Given the description of an element on the screen output the (x, y) to click on. 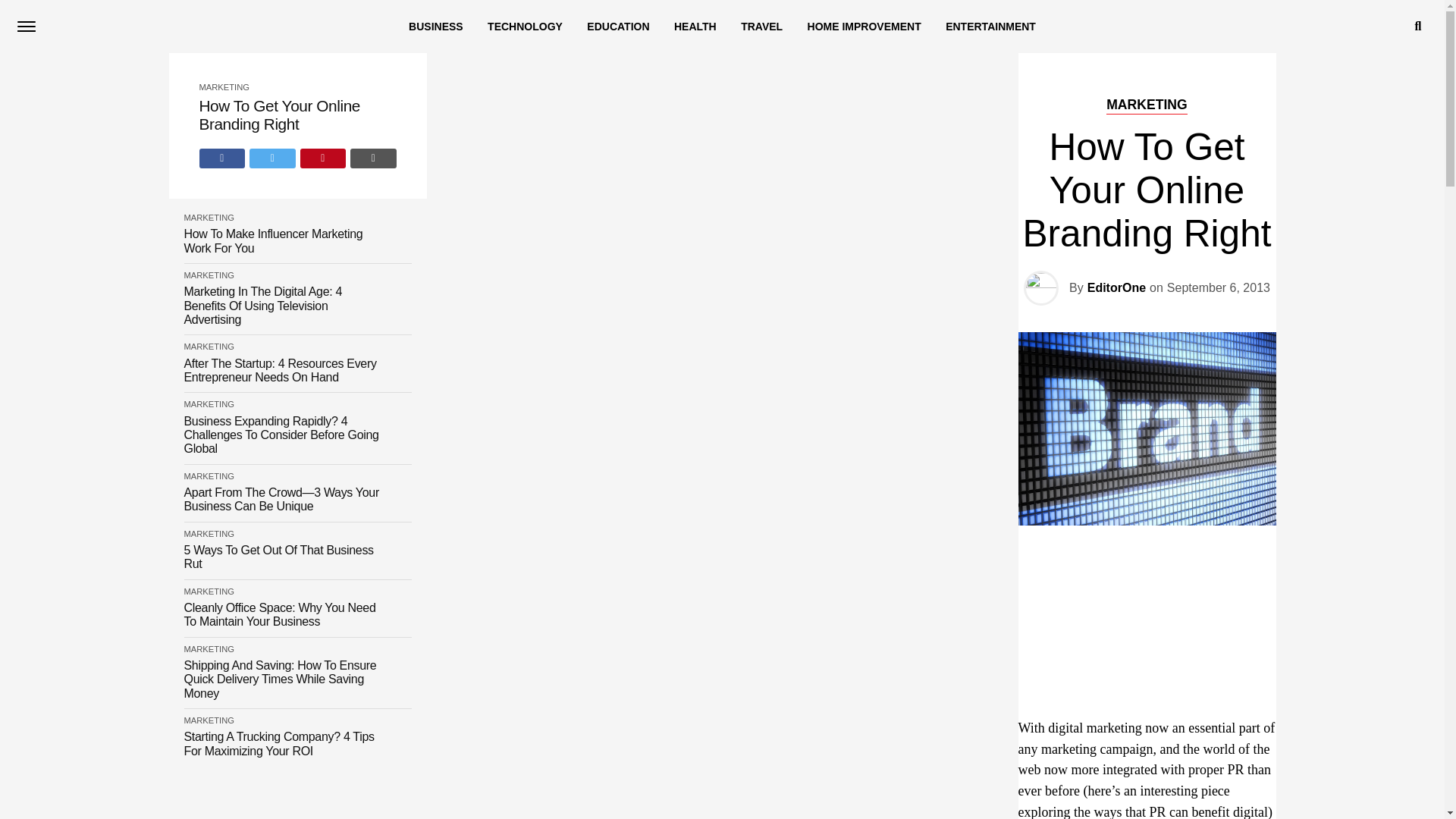
BUSINESS (435, 26)
TRAVEL (761, 26)
Pin This Post (322, 158)
How To Get Your Online Branding Right (297, 115)
HOME IMPROVEMENT (863, 26)
EDUCATION (617, 26)
Share on Facebook (221, 158)
HEALTH (694, 26)
MARKETING (208, 275)
ENTERTAINMENT (990, 26)
MARKETING (223, 86)
Tweet This Post (271, 158)
